Given the description of an element on the screen output the (x, y) to click on. 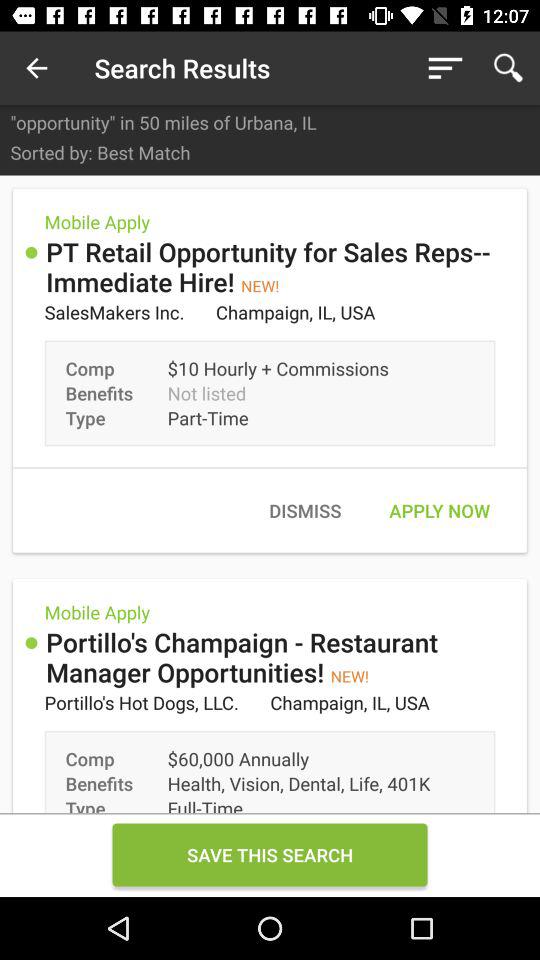
open apply now item (439, 510)
